Given the description of an element on the screen output the (x, y) to click on. 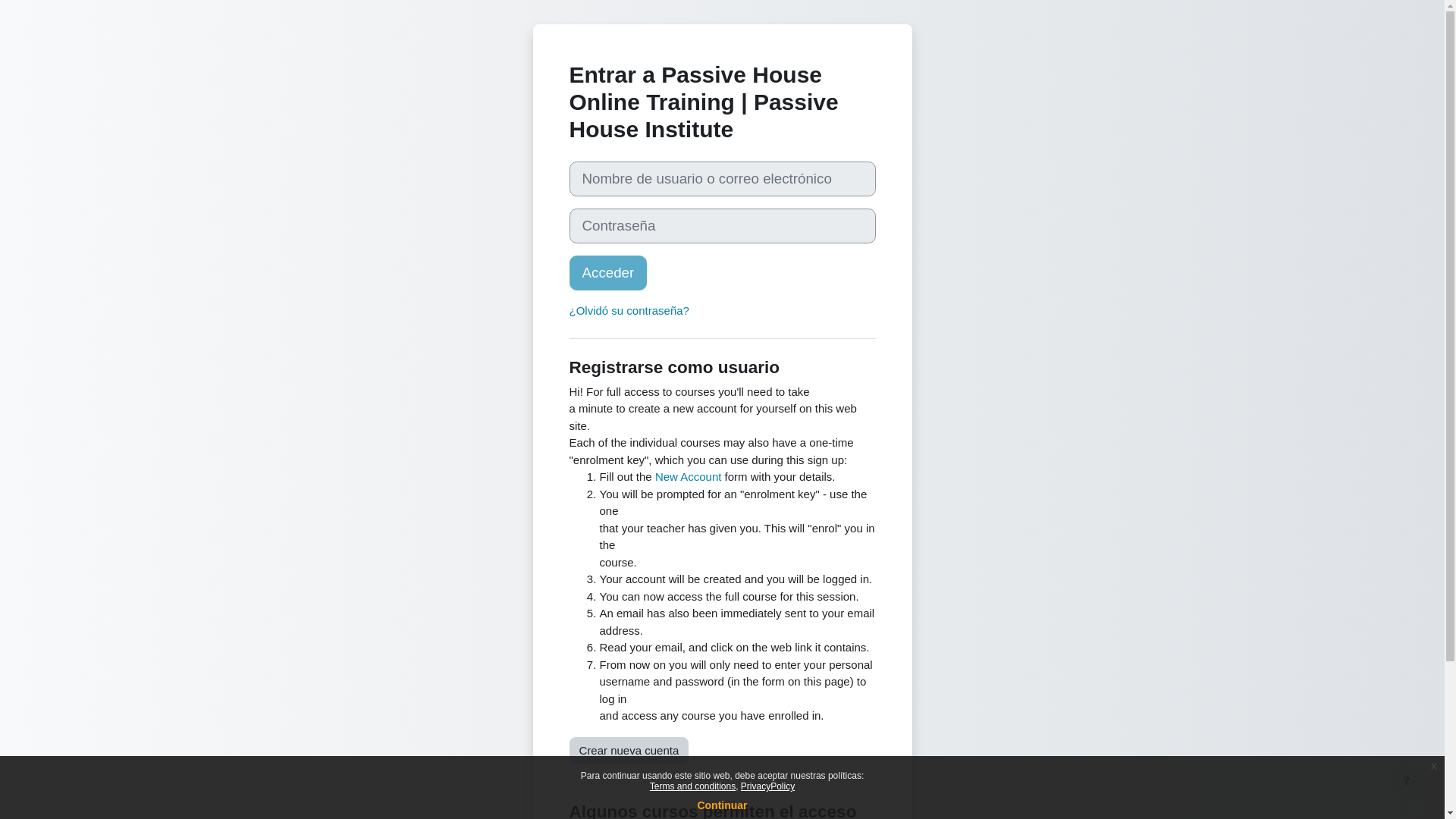
New Account (688, 476)
PrivacyPolicy (767, 786)
Continuar (721, 805)
Terms and conditions (692, 786)
Acceder (607, 272)
Crear nueva cuenta (628, 750)
